Given the description of an element on the screen output the (x, y) to click on. 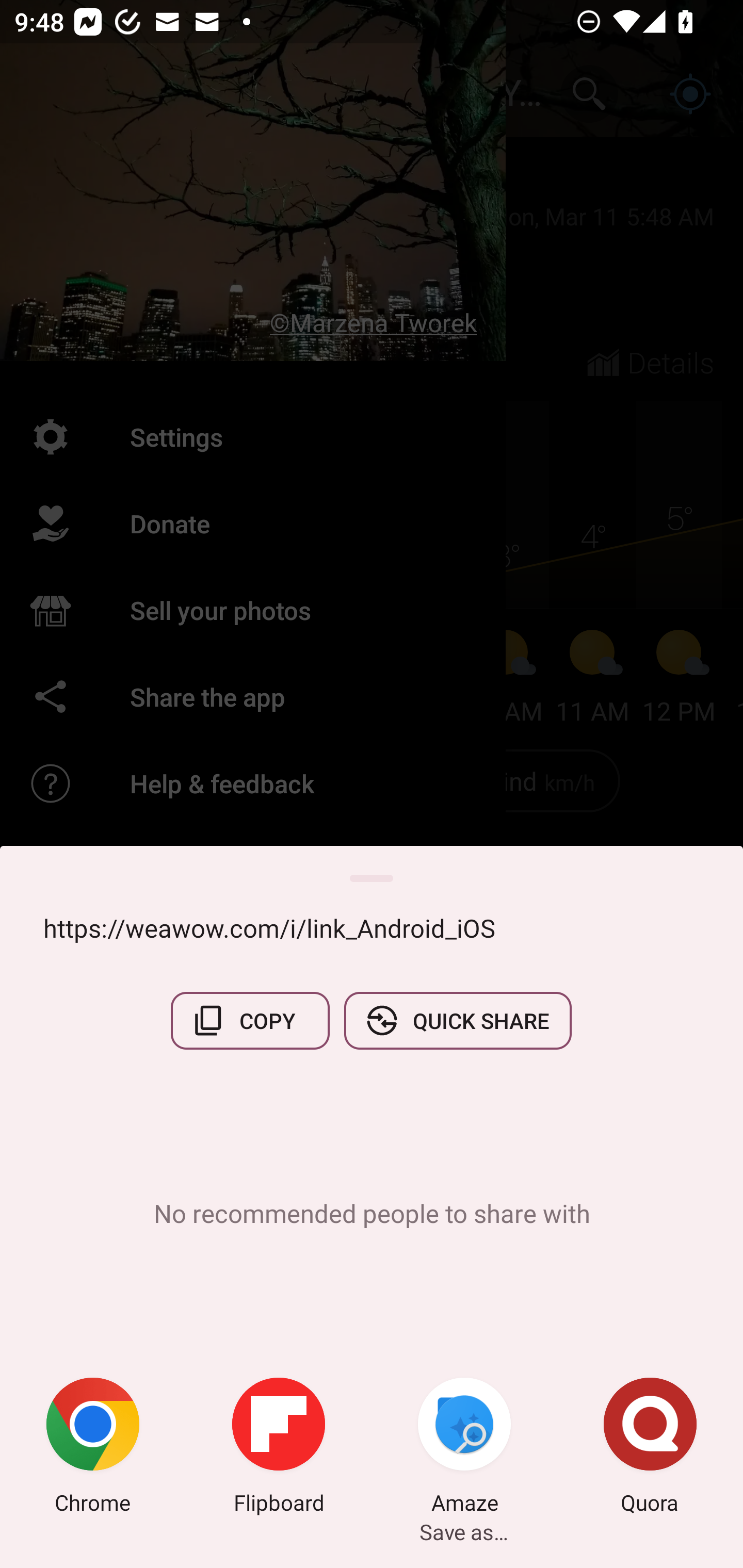
COPY (249, 1020)
QUICK SHARE (457, 1020)
Chrome (92, 1448)
Flipboard (278, 1448)
Amaze Save as… (464, 1448)
Quora (650, 1448)
